Given the description of an element on the screen output the (x, y) to click on. 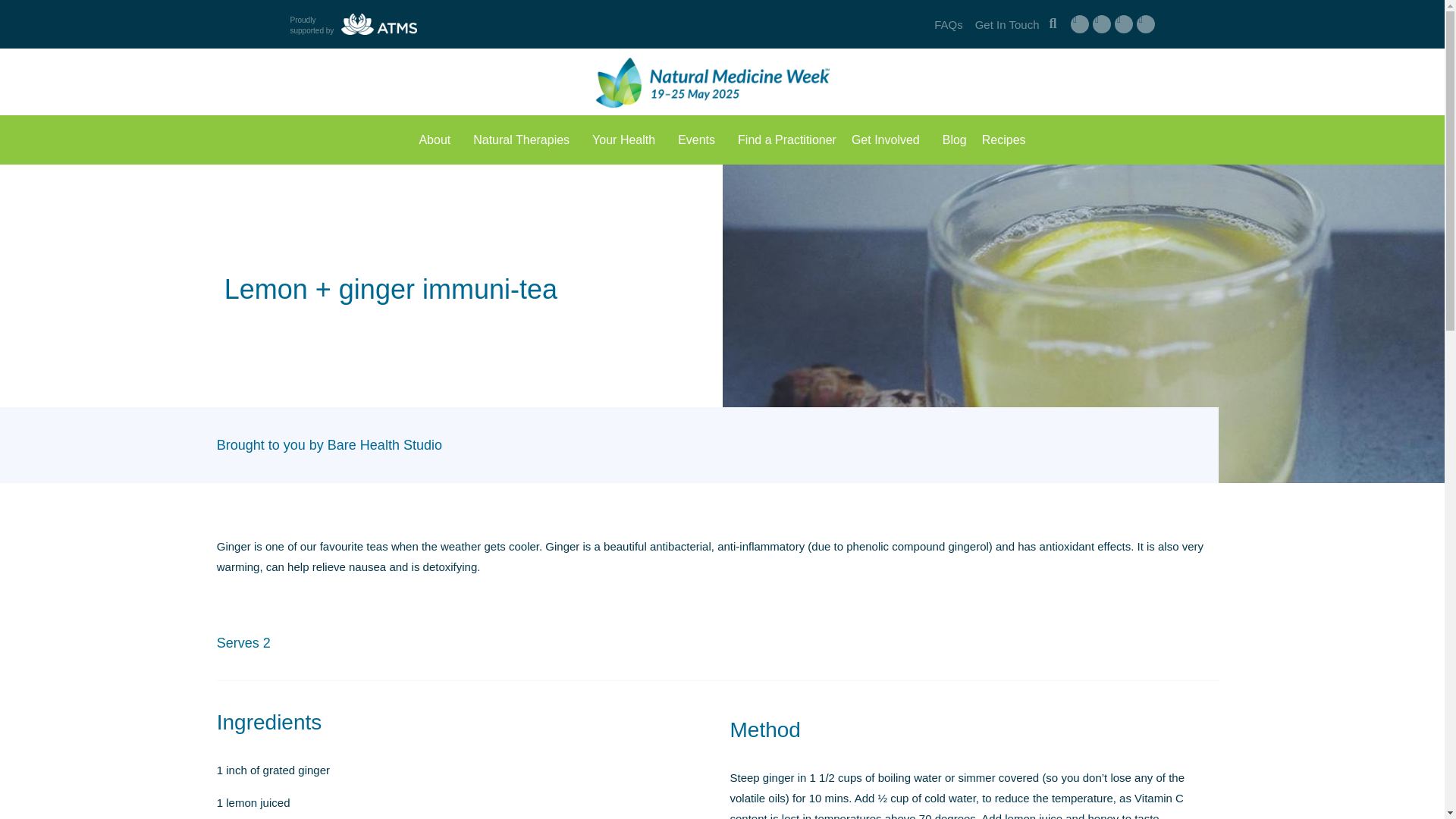
Natural Therapies (525, 139)
About (437, 139)
Get In Touch (1007, 23)
FAQs (948, 23)
